Given the description of an element on the screen output the (x, y) to click on. 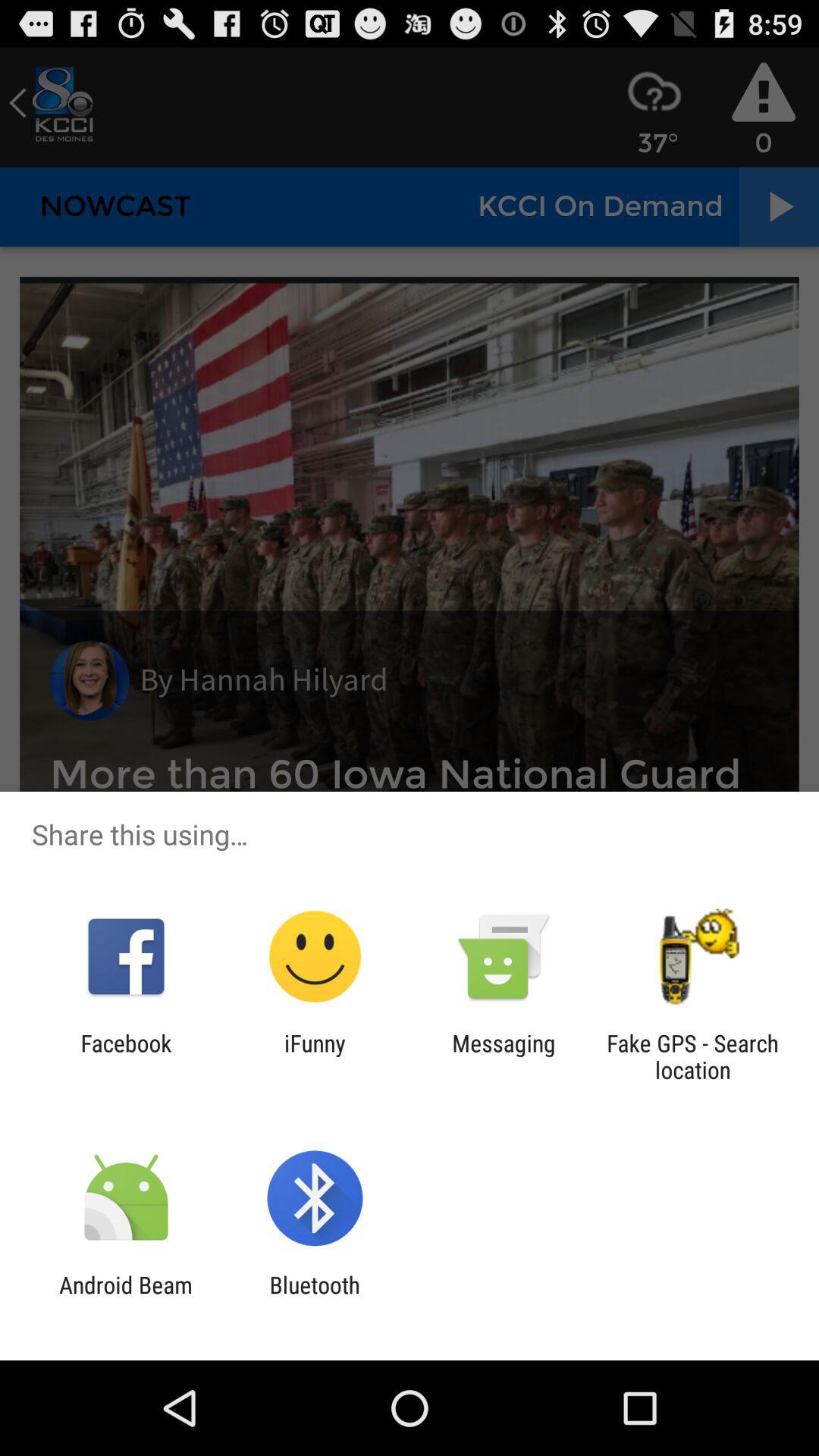
turn off the fake gps search item (692, 1056)
